Given the description of an element on the screen output the (x, y) to click on. 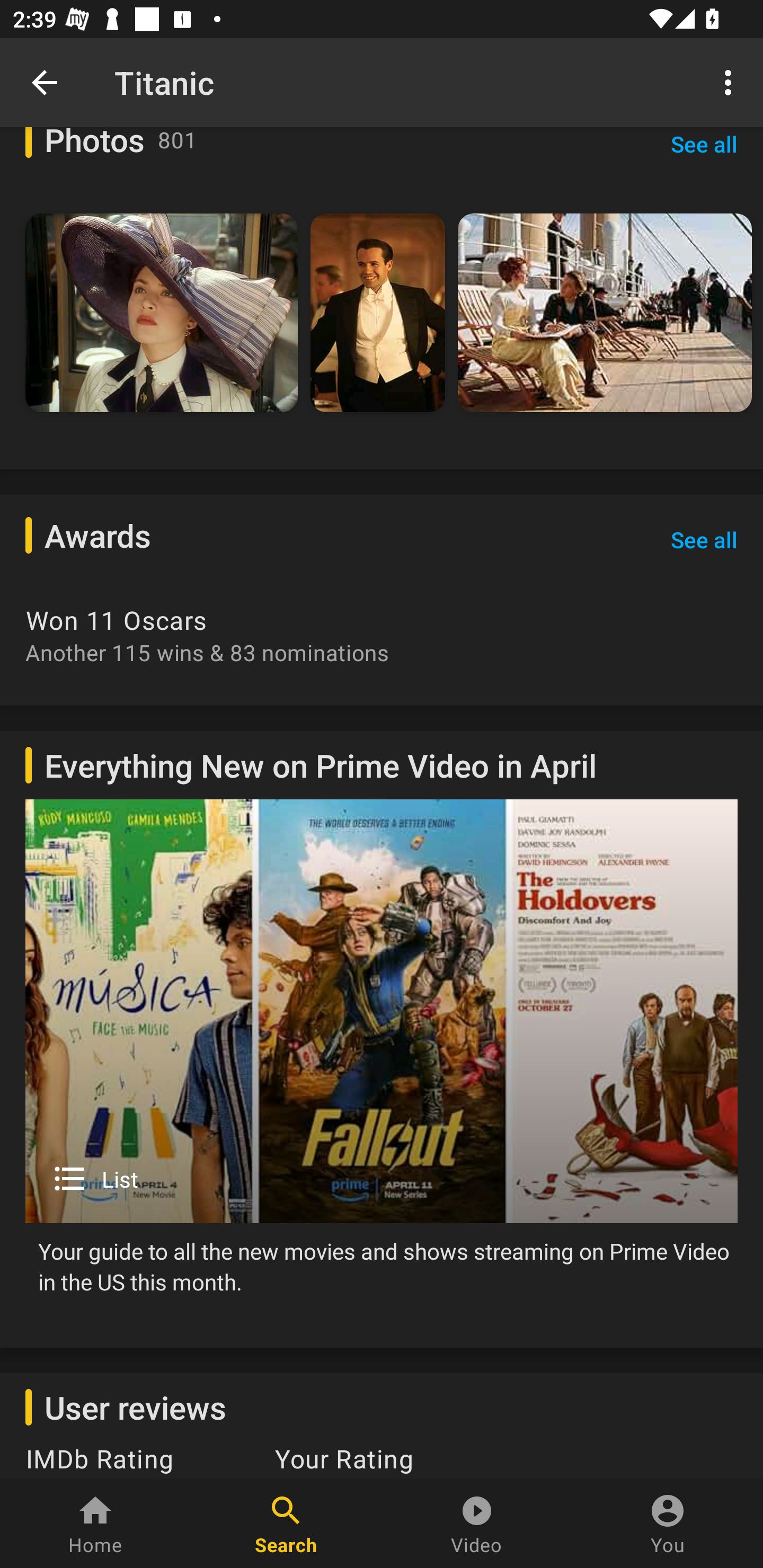
More options (731, 81)
See all See all Photos (703, 154)
See all See all Awards (703, 539)
Won 11 Oscars Another 115 wins & 83 nominations (381, 634)
Your Rating (337, 1459)
Home (95, 1523)
Video (476, 1523)
You (667, 1523)
